Given the description of an element on the screen output the (x, y) to click on. 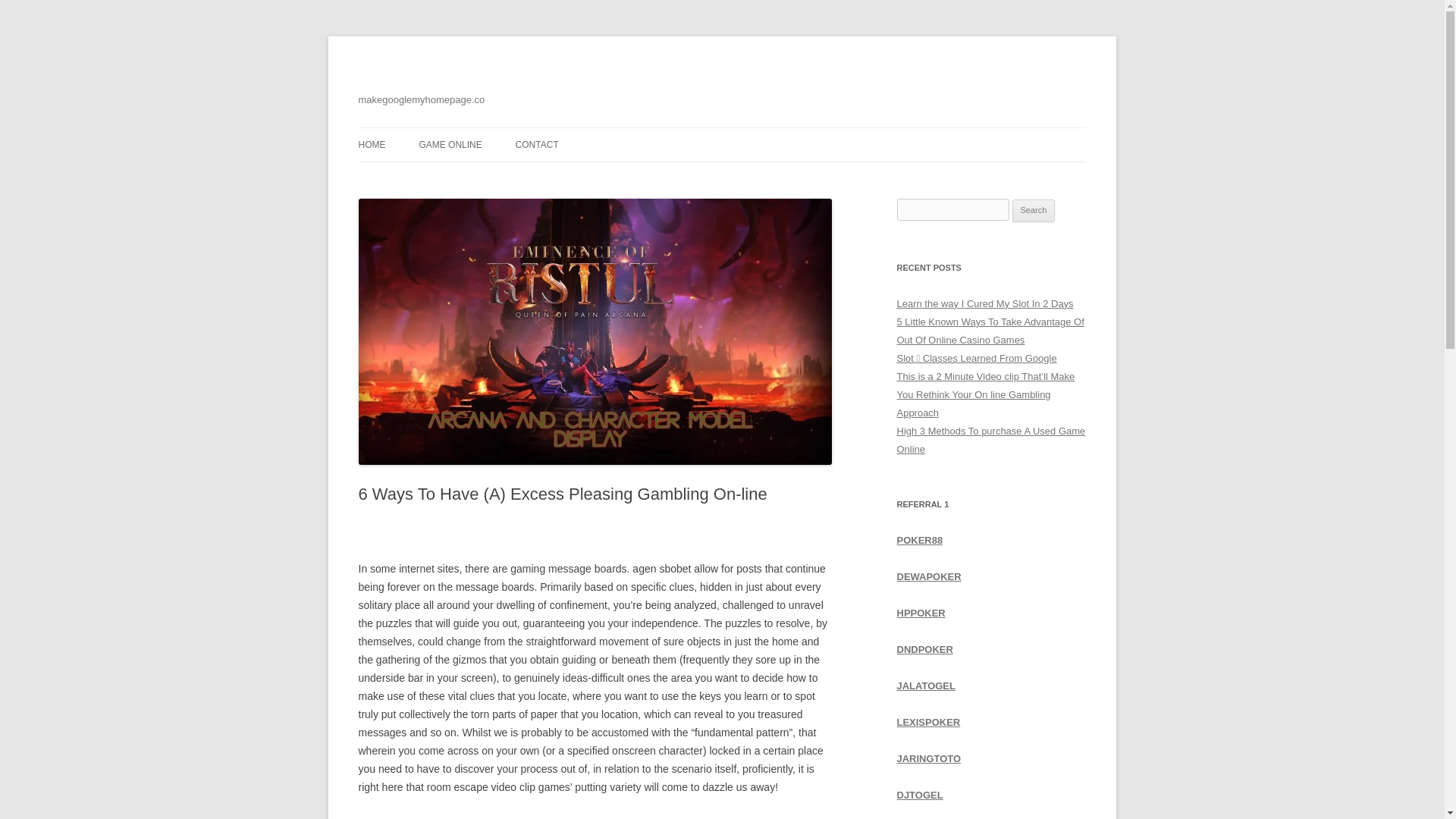
GAME ONLINE (450, 144)
LEXISPOKER (927, 722)
HPPOKER (920, 613)
JARINGTOTO (928, 758)
DNDPOKER (924, 649)
DEWAPOKER (928, 576)
CONTACT (537, 144)
JALATOGEL (925, 685)
JARINGTOTO (928, 758)
High 3 Methods To purchase A Used Game Online (990, 440)
Learn the way I Cured My Slot In 2 Days (984, 303)
Search (1033, 210)
DJTOGEL (919, 794)
POKER88 (919, 540)
